Given the description of an element on the screen output the (x, y) to click on. 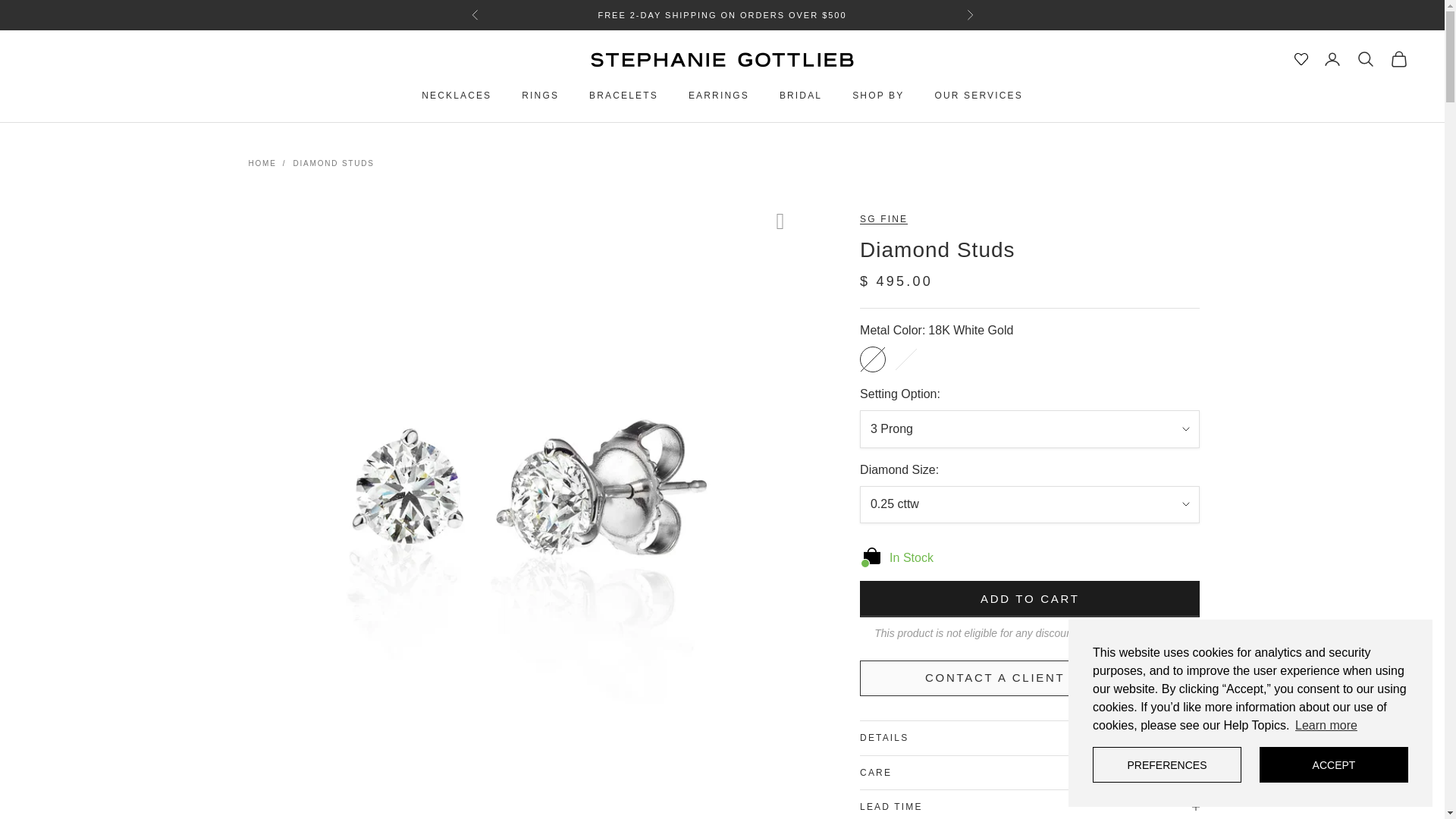
Stephanie Gottlieb (722, 58)
Learn more (1325, 724)
ACCEPT (1333, 764)
PREFERENCES (1167, 764)
